Given the description of an element on the screen output the (x, y) to click on. 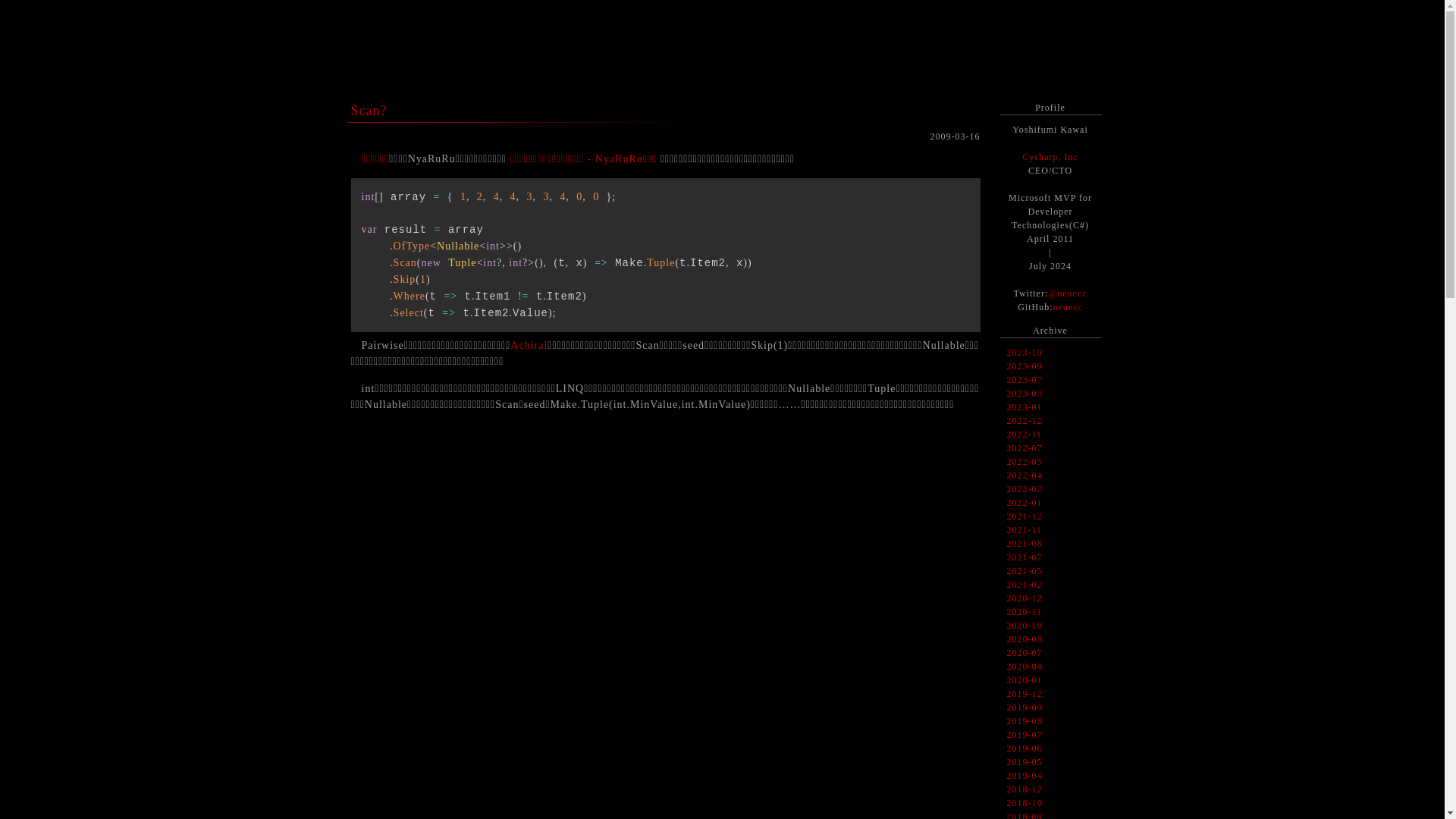
2021-12 Element type: text (1024, 516)
2021-02 Element type: text (1024, 584)
2023-09 Element type: text (1024, 365)
2019-06 Element type: text (1024, 748)
2019-08 Element type: text (1024, 720)
Cysharp, Inc Element type: text (1049, 156)
2022-07 Element type: text (1024, 447)
2022-01 Element type: text (1024, 502)
Achiral Element type: text (528, 345)
@neuecc Element type: text (1067, 293)
2021-07 Element type: text (1024, 557)
2022-05 Element type: text (1024, 461)
2021-11 Element type: text (1024, 529)
2020-11 Element type: text (1024, 611)
2023-07 Element type: text (1024, 379)
2023-03 Element type: text (1024, 393)
2022-12 Element type: text (1024, 420)
2018-10 Element type: text (1024, 802)
Scan? Element type: text (368, 110)
2019-04 Element type: text (1024, 775)
2022-11 Element type: text (1024, 434)
2020-10 Element type: text (1024, 625)
2020-01 Element type: text (1024, 679)
2018-12 Element type: text (1024, 789)
2020-04 Element type: text (1024, 666)
2023-10 Element type: text (1024, 352)
neuecc Element type: text (1067, 306)
2019-07 Element type: text (1024, 734)
2021-08 Element type: text (1024, 543)
2019-09 Element type: text (1024, 707)
2021-05 Element type: text (1024, 570)
2020-12 Element type: text (1024, 598)
2020-08 Element type: text (1024, 638)
2022-04 Element type: text (1024, 475)
2019-05 Element type: text (1024, 761)
2020-07 Element type: text (1024, 652)
2022-02 Element type: text (1024, 488)
2019-12 Element type: text (1024, 693)
2023-01 Element type: text (1024, 406)
